Given the description of an element on the screen output the (x, y) to click on. 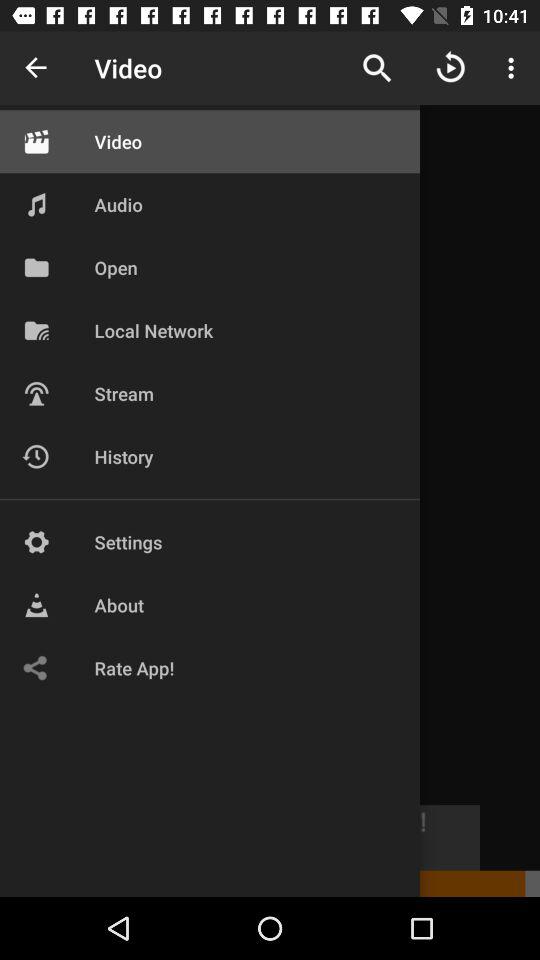
click on search (377, 68)
select the search icon (377, 68)
select the top 4 along with the icons (143, 253)
tap on the icon which is right to the search icon (451, 68)
